Given the description of an element on the screen output the (x, y) to click on. 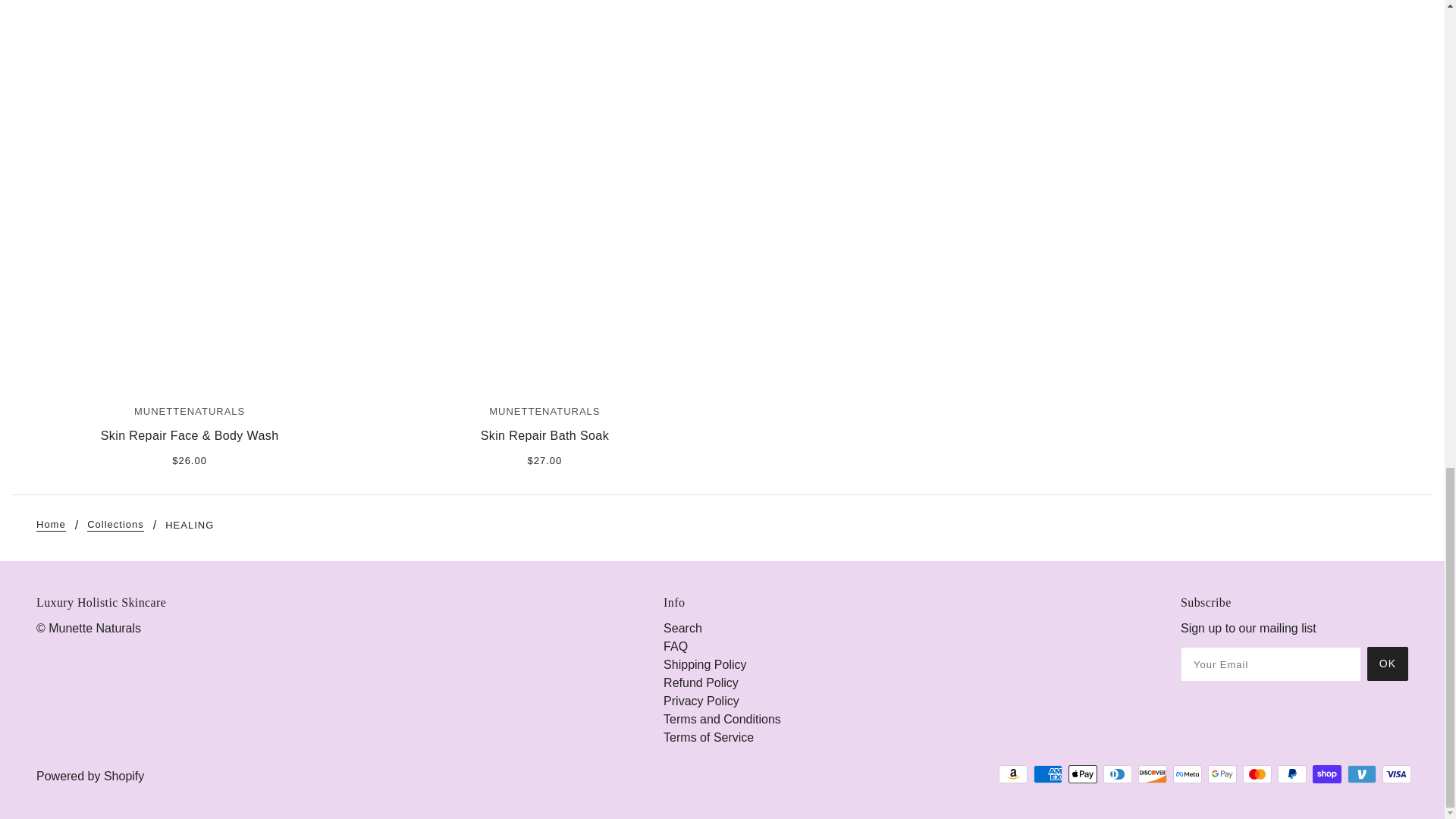
American Express (1047, 773)
Privacy Policy (701, 700)
Terms of Service (708, 737)
Search (682, 627)
Shipping Policy (704, 664)
Discover (1152, 773)
FAQ (675, 645)
Terms of Service (708, 737)
Privacy Policy (701, 700)
Terms and Conditions (721, 718)
Terms and Conditions (721, 718)
Amazon (1012, 773)
Refund Policy (700, 682)
Refund Policy (700, 682)
Meta Pay (1187, 773)
